Given the description of an element on the screen output the (x, y) to click on. 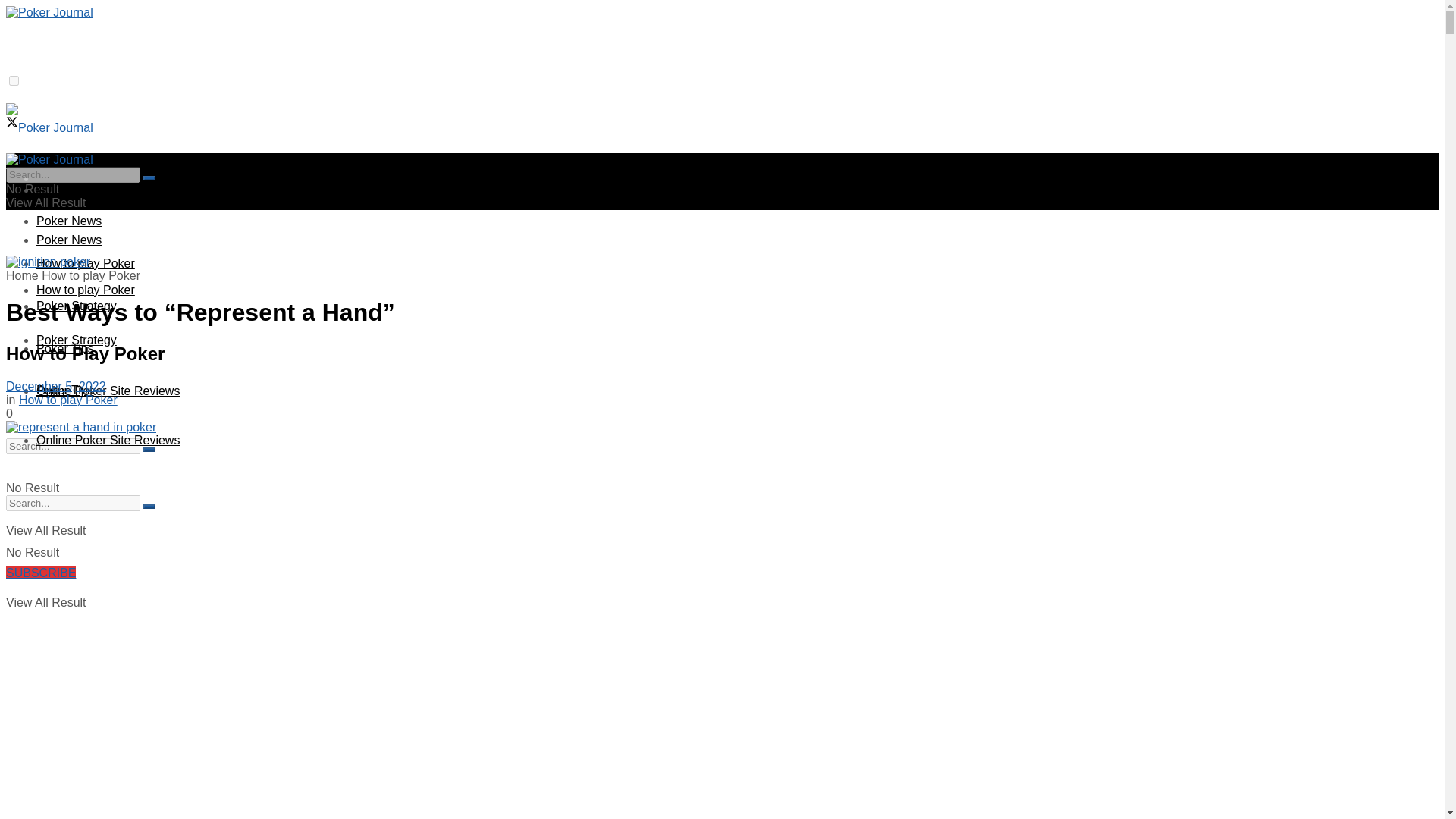
on (13, 80)
Home (52, 189)
How to play Poker (90, 275)
SUBSCRIBE (40, 572)
Home (52, 178)
How to play Poker (85, 289)
Home (22, 275)
Online Poker Site Reviews (107, 440)
Poker Strategy (76, 339)
Poker Tips (65, 348)
Poker Tips (65, 390)
Poker News (68, 239)
Poker Strategy (76, 305)
Poker News (68, 220)
How to play Poker (67, 399)
